Given the description of an element on the screen output the (x, y) to click on. 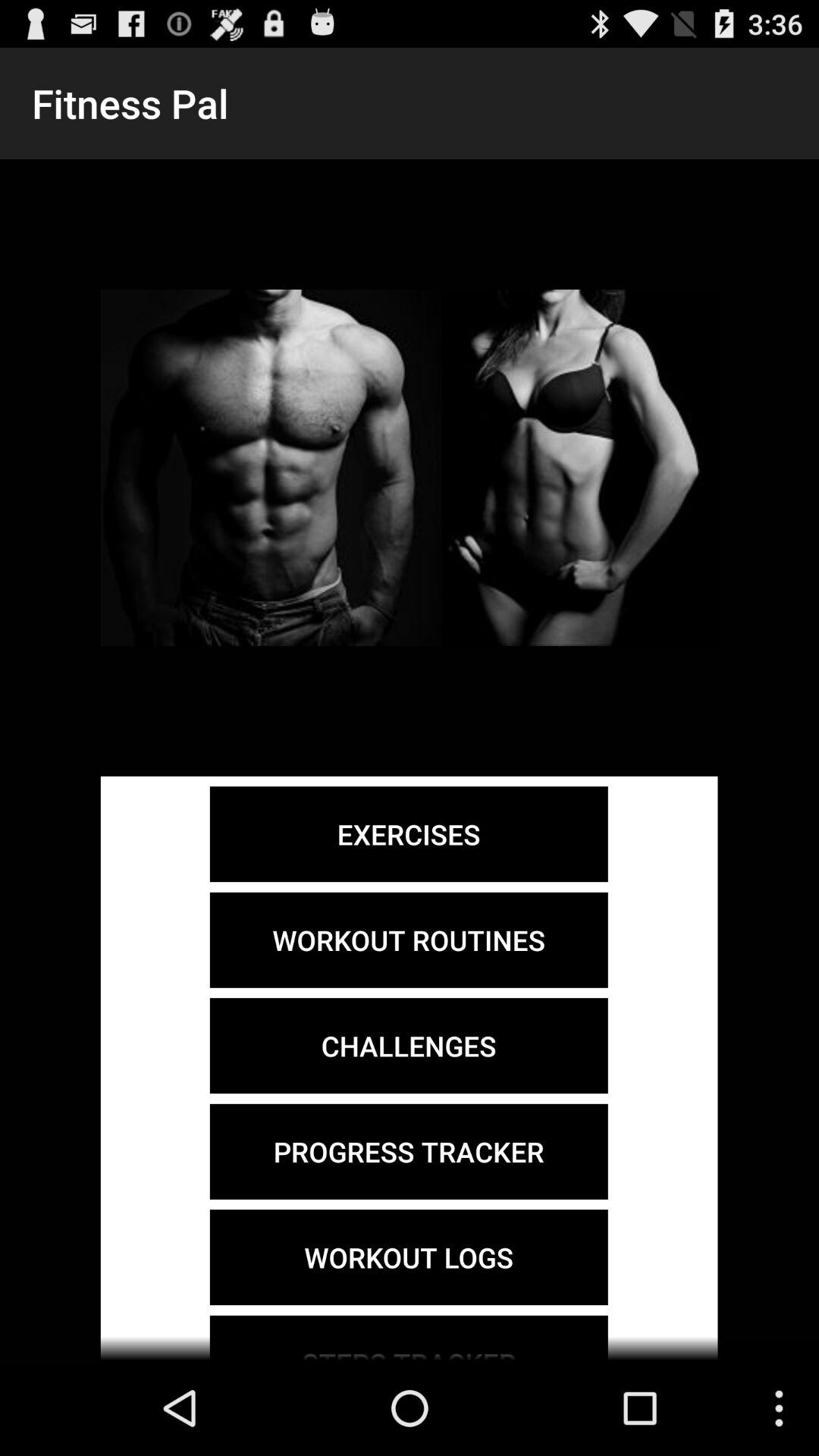
open exercises item (408, 834)
